Given the description of an element on the screen output the (x, y) to click on. 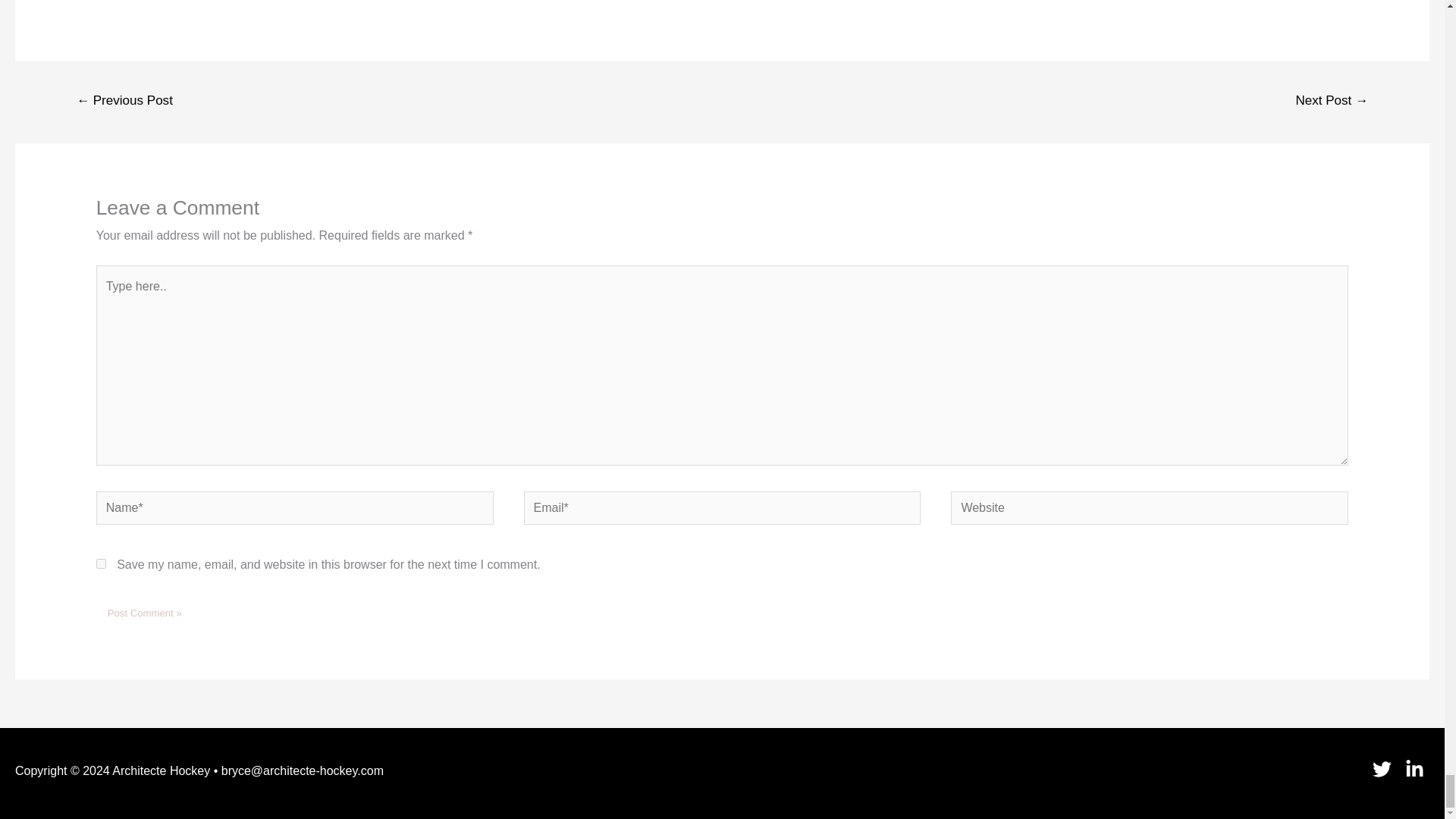
yes (101, 563)
